Given the description of an element on the screen output the (x, y) to click on. 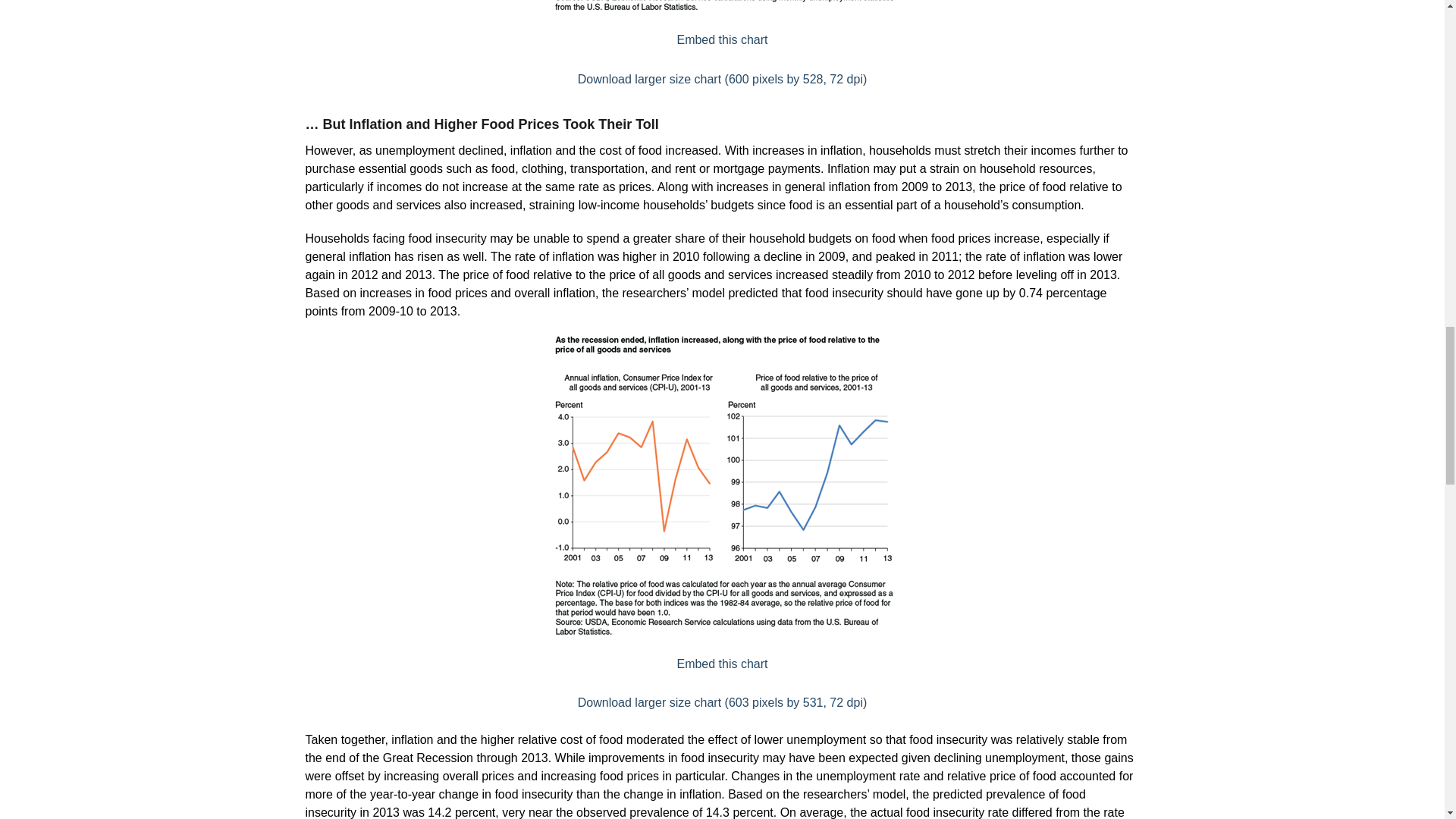
Embed this chart (722, 663)
Embed this chart (722, 39)
